Given the description of an element on the screen output the (x, y) to click on. 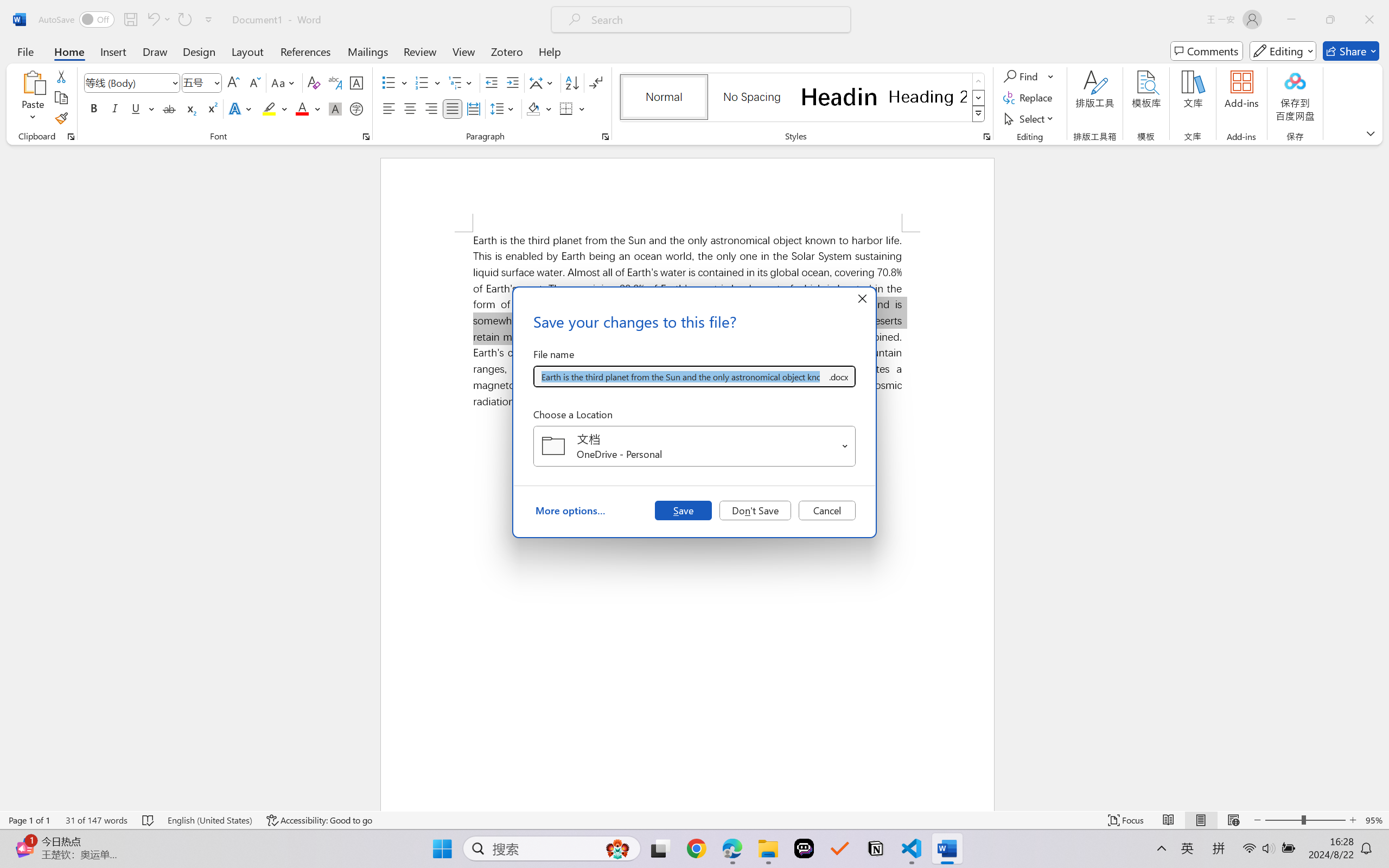
Choose a Location (694, 446)
Format Painter (60, 118)
Open (844, 446)
Clear Formatting (313, 82)
Align Left (388, 108)
Zoom 95% (1374, 819)
